Given the description of an element on the screen output the (x, y) to click on. 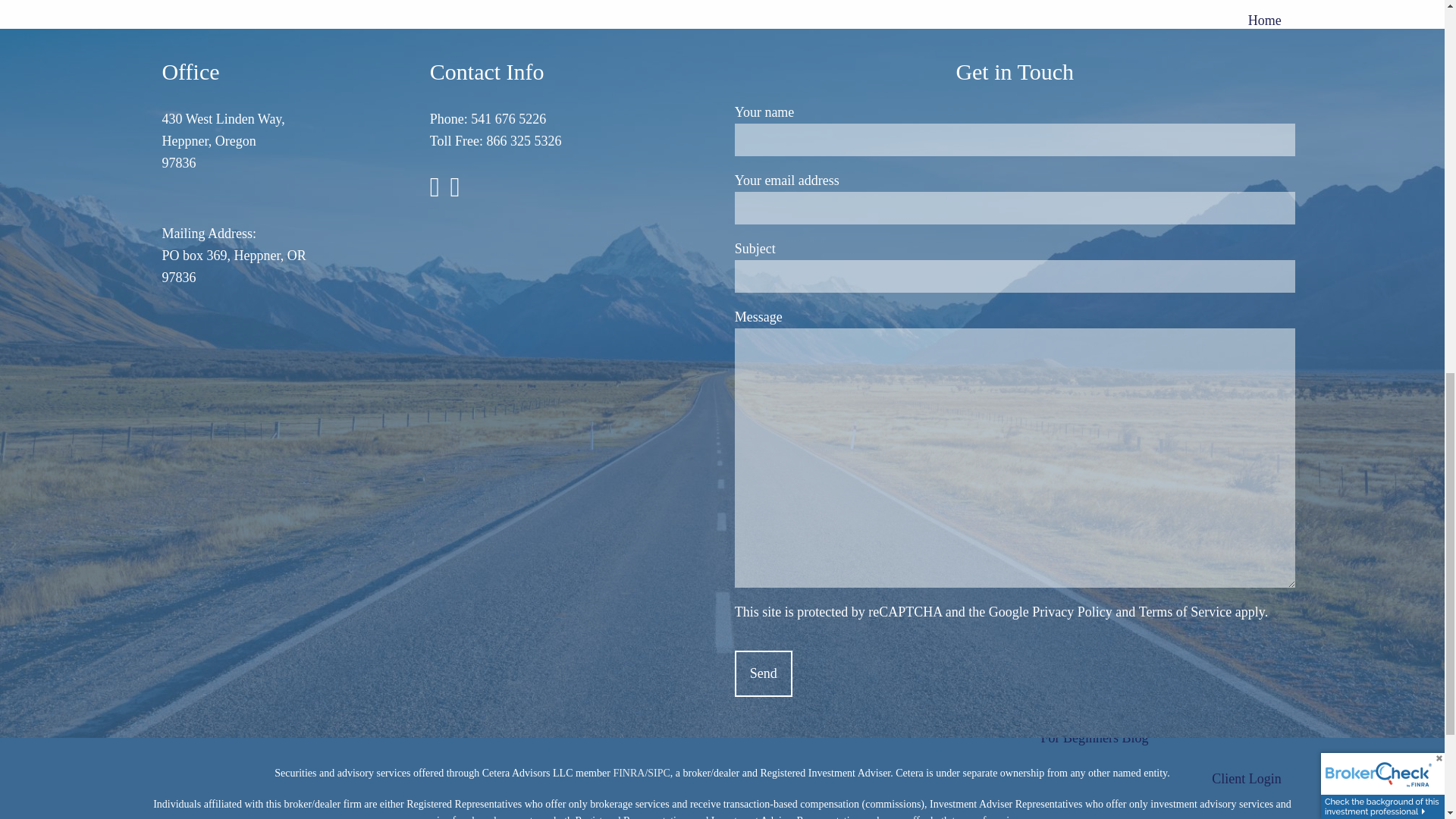
FINRA (628, 772)
541 676 5226 (508, 118)
Privacy Policy (1072, 611)
Terms of Service (1184, 611)
SIPC (658, 772)
Send (763, 673)
Send (763, 673)
866 325 5326 (524, 140)
